Given the description of an element on the screen output the (x, y) to click on. 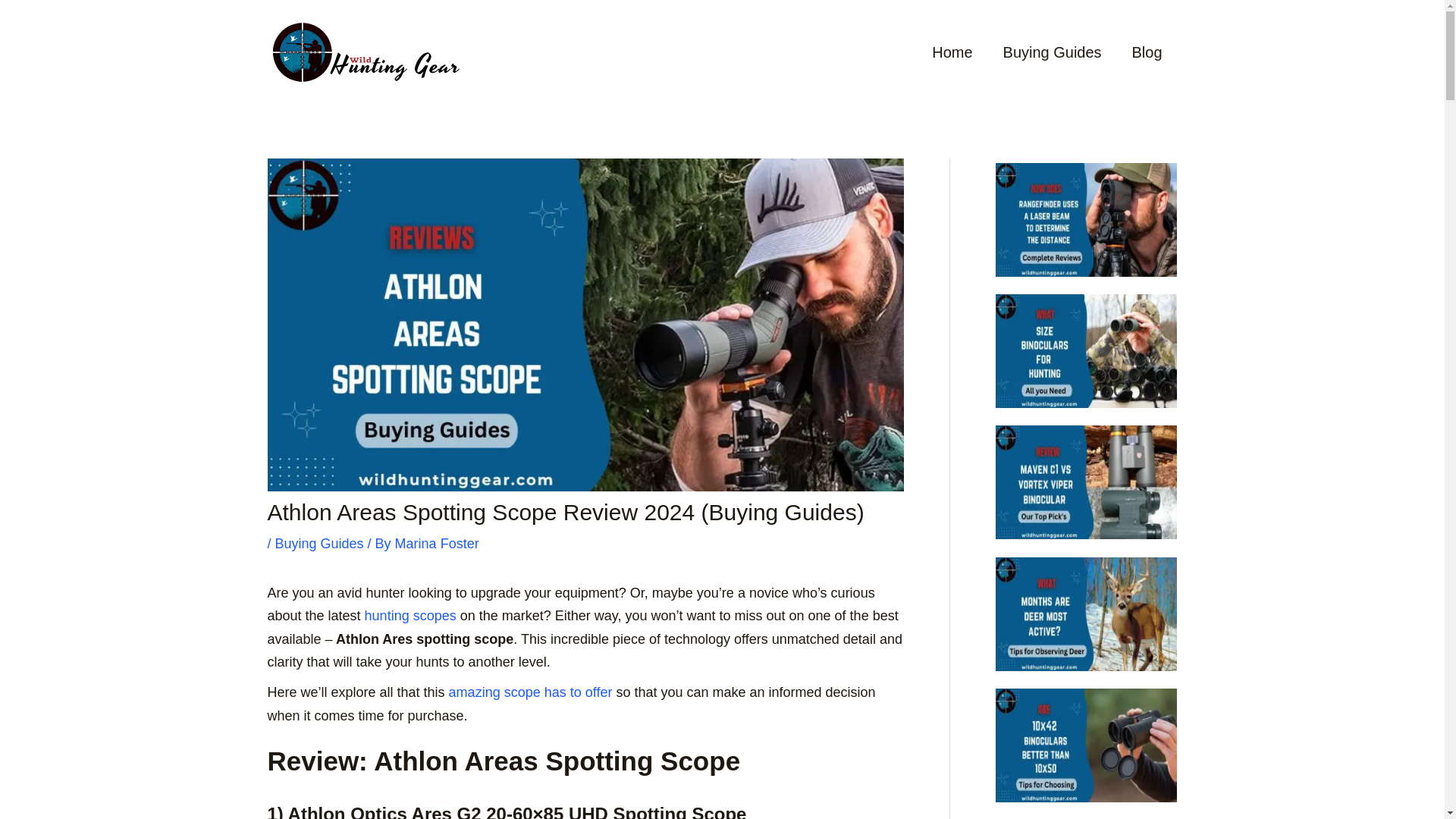
Buying Guides (319, 543)
View all posts by Marina Foster (436, 543)
amazing scope has to offer (528, 692)
Home (952, 51)
Blog (1146, 51)
Buying Guides (1052, 51)
hunting scopes (409, 615)
Marina Foster (436, 543)
